Given the description of an element on the screen output the (x, y) to click on. 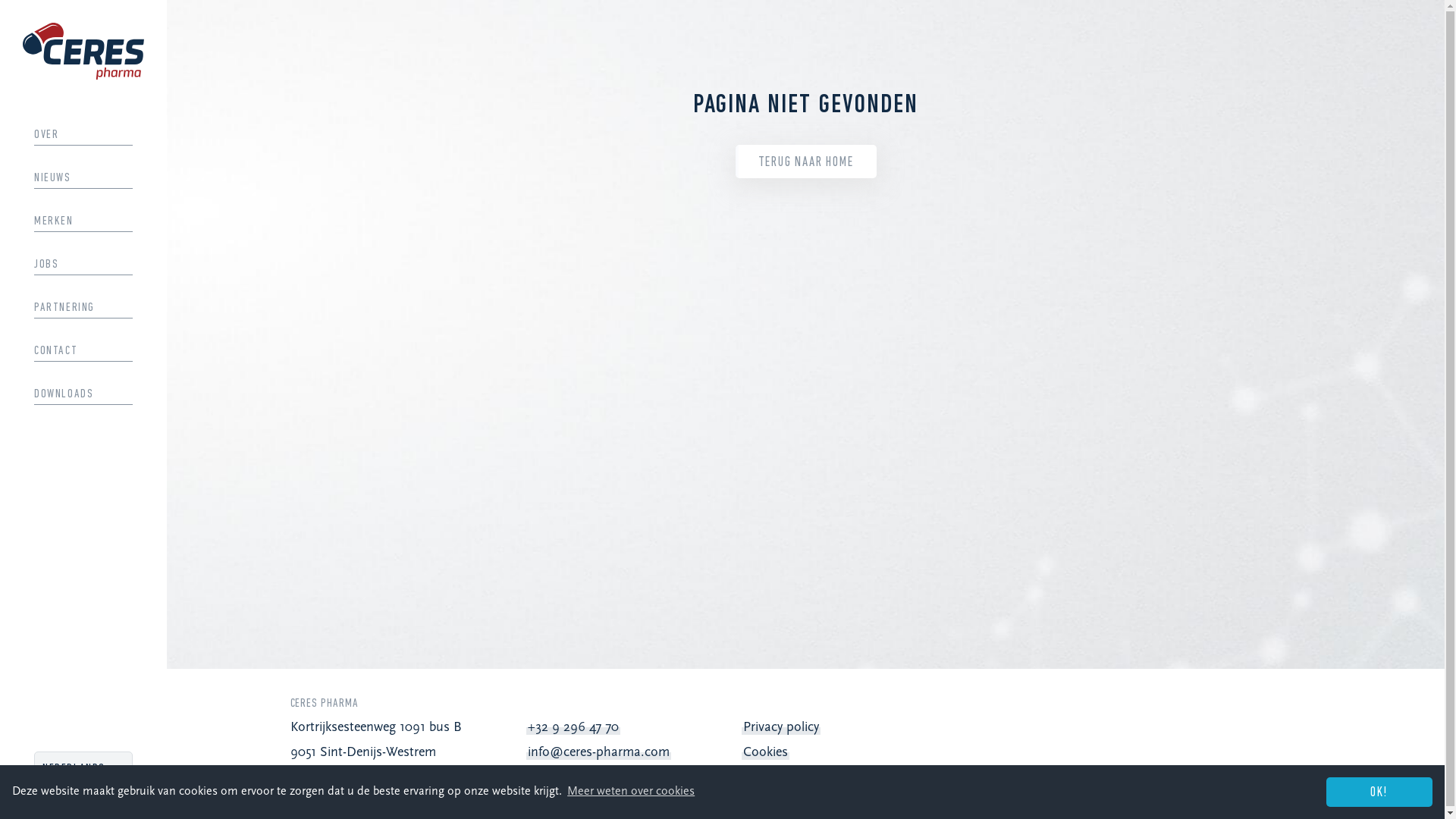
MERKEN Element type: text (83, 221)
OVER Element type: text (83, 134)
CONTACT Element type: text (83, 350)
Cookies Element type: text (765, 752)
DOWNLOADS Element type: text (83, 394)
NIEUWS Element type: text (83, 178)
info@ceres-pharma.com Element type: text (598, 752)
General terms and conditions of sale Element type: text (848, 776)
JOBS Element type: text (83, 264)
OK! Element type: text (1379, 791)
+32 9 296 47 70 Element type: text (572, 727)
Meer weten over cookies Element type: text (630, 791)
TERUG NAAR HOME Element type: text (805, 161)
Site by Esign Element type: text (1423, 788)
PARTNERING Element type: text (83, 307)
Privacy policy Element type: text (781, 727)
